Given the description of an element on the screen output the (x, y) to click on. 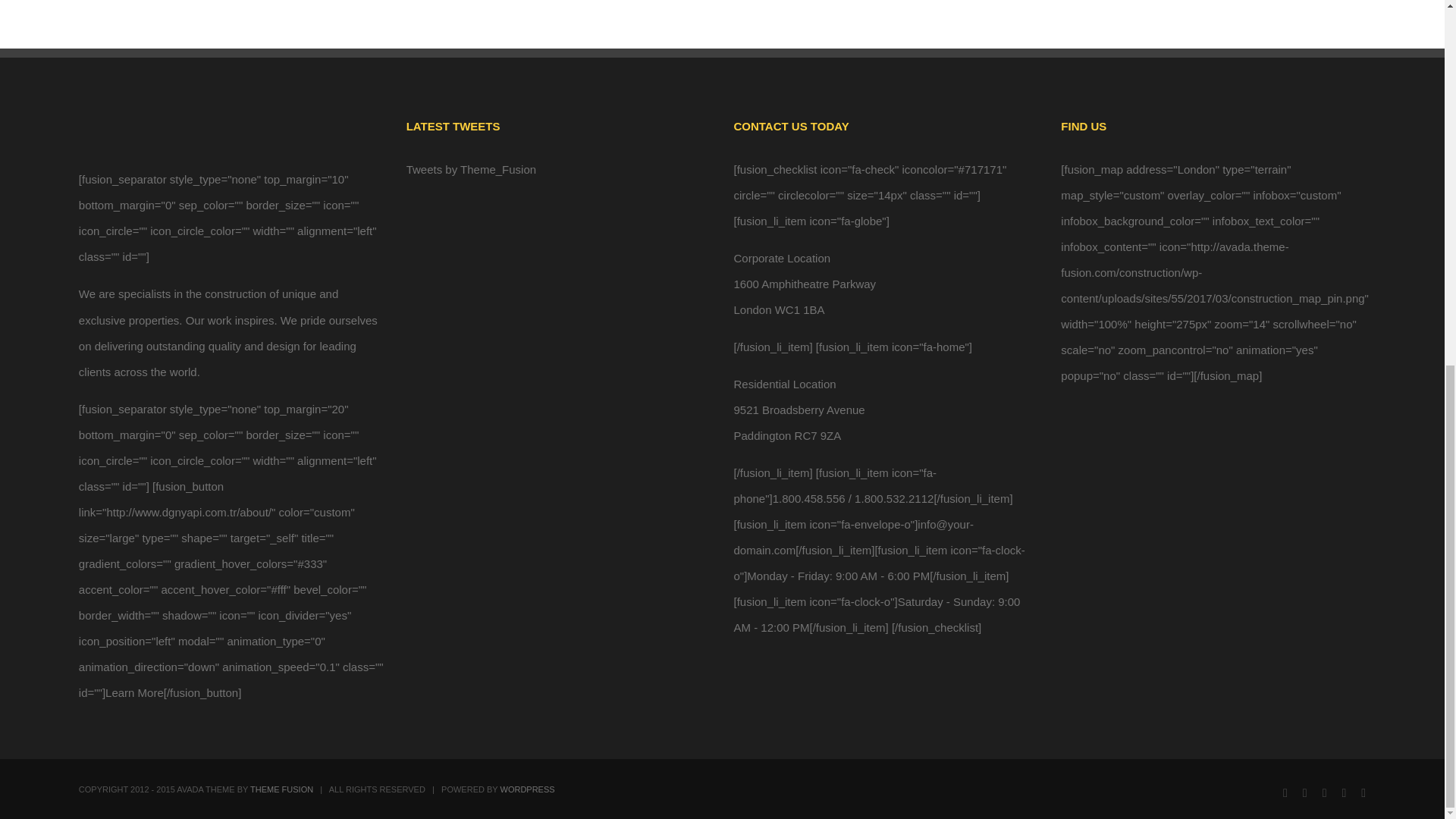
THEME FUSION (281, 788)
WORDPRESS (527, 788)
